Given the description of an element on the screen output the (x, y) to click on. 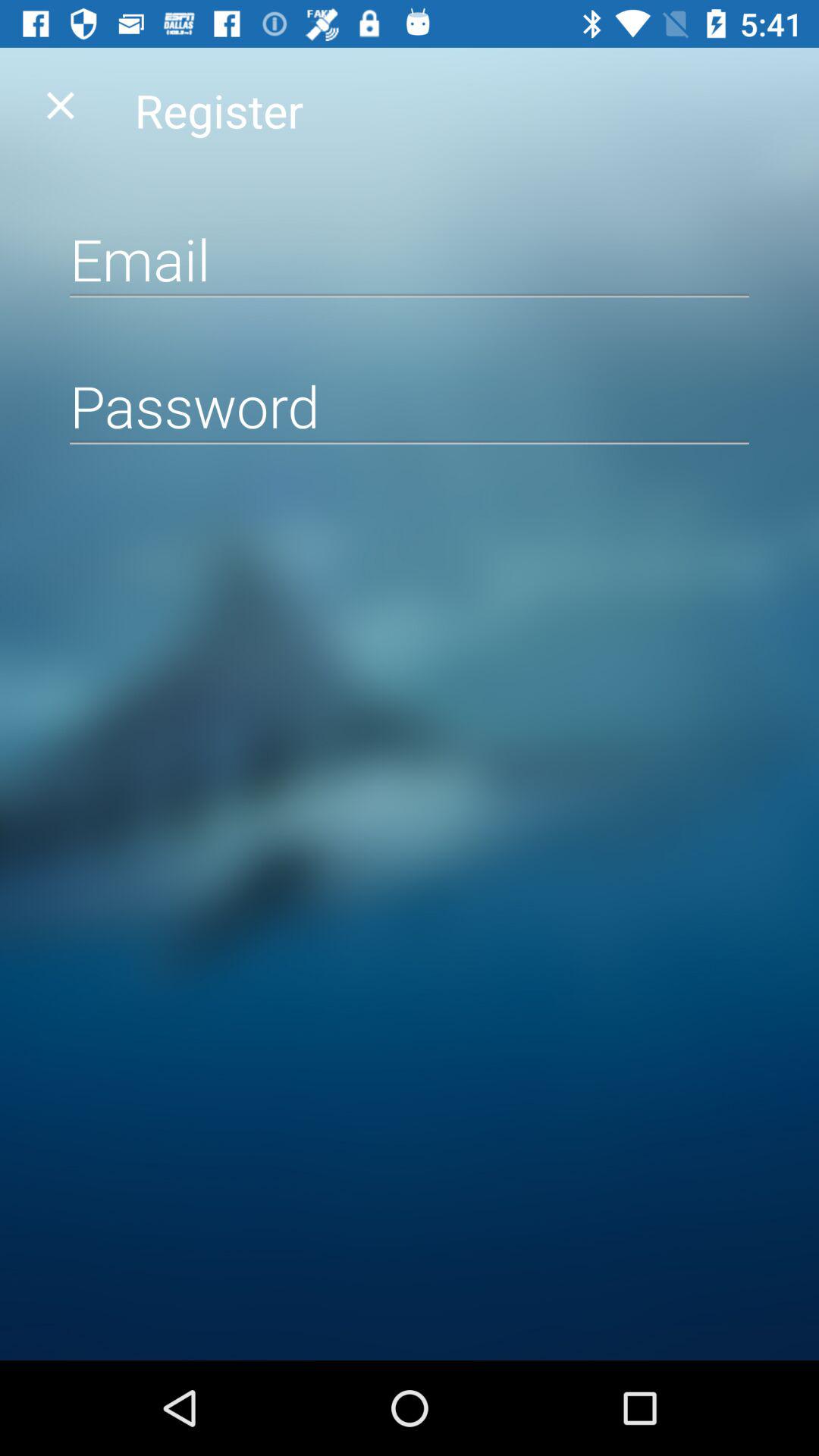
open the item below the register icon (409, 258)
